Given the description of an element on the screen output the (x, y) to click on. 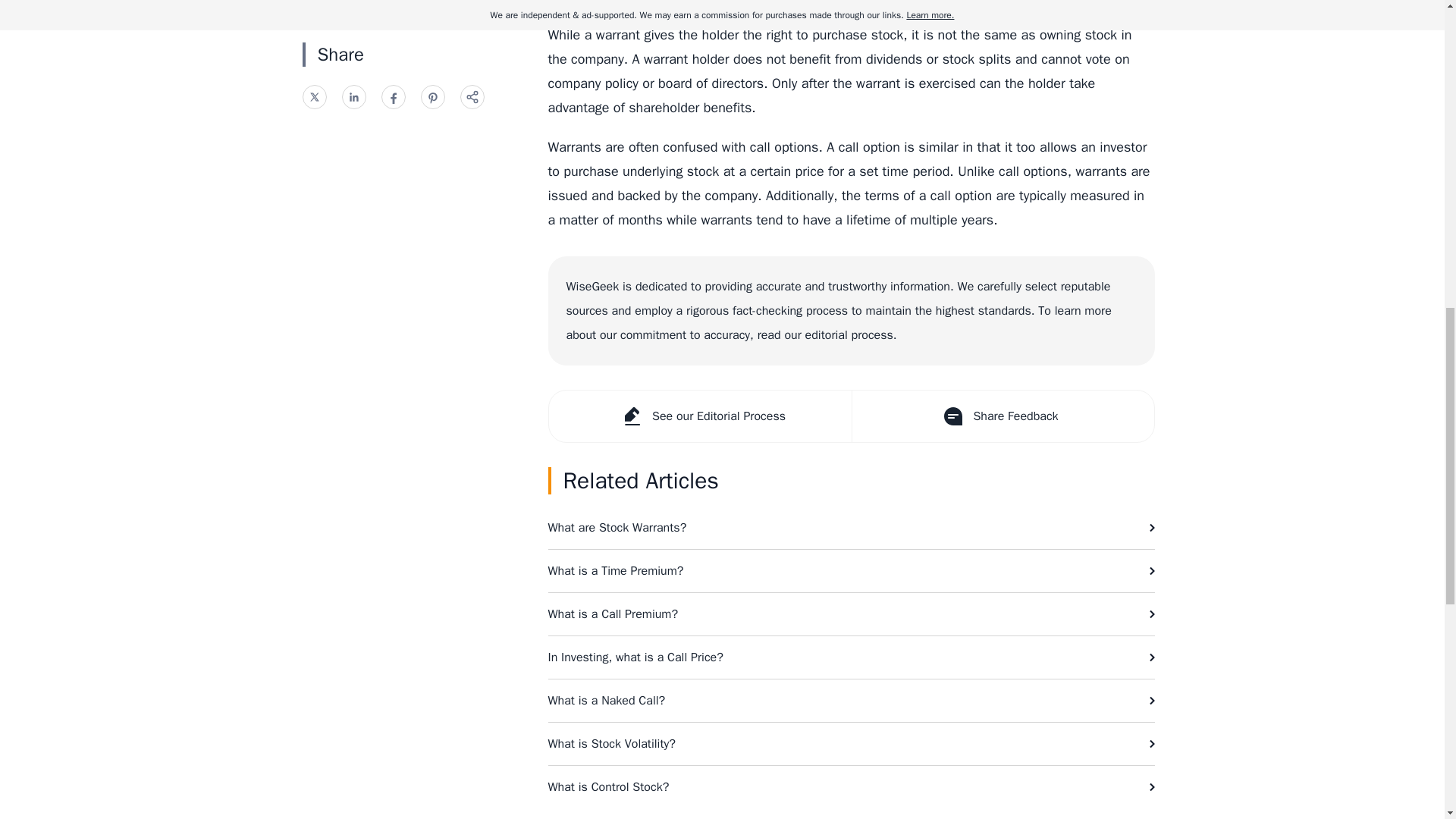
What is a Time Premium? (850, 570)
What is a Naked Call? (850, 700)
In Investing, what is a Call Price? (850, 657)
What is Control Stock? (850, 786)
Share Feedback (1001, 416)
What are Stock Warrants? (850, 527)
See our Editorial Process (699, 416)
What is Stock Volatility? (850, 743)
What is a Call Premium? (850, 613)
